Given the description of an element on the screen output the (x, y) to click on. 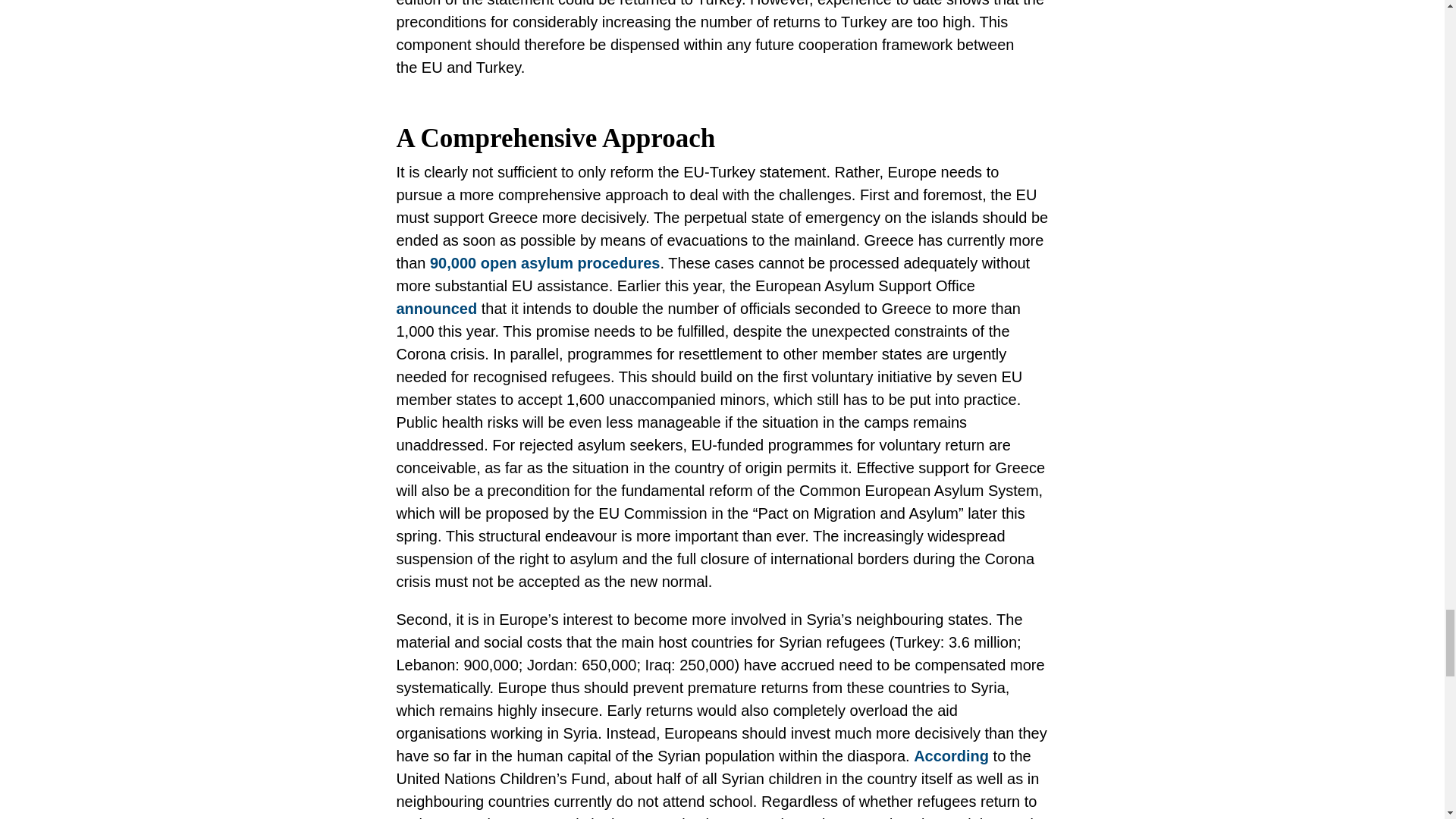
A Comprehensive Approach (722, 138)
